Given the description of an element on the screen output the (x, y) to click on. 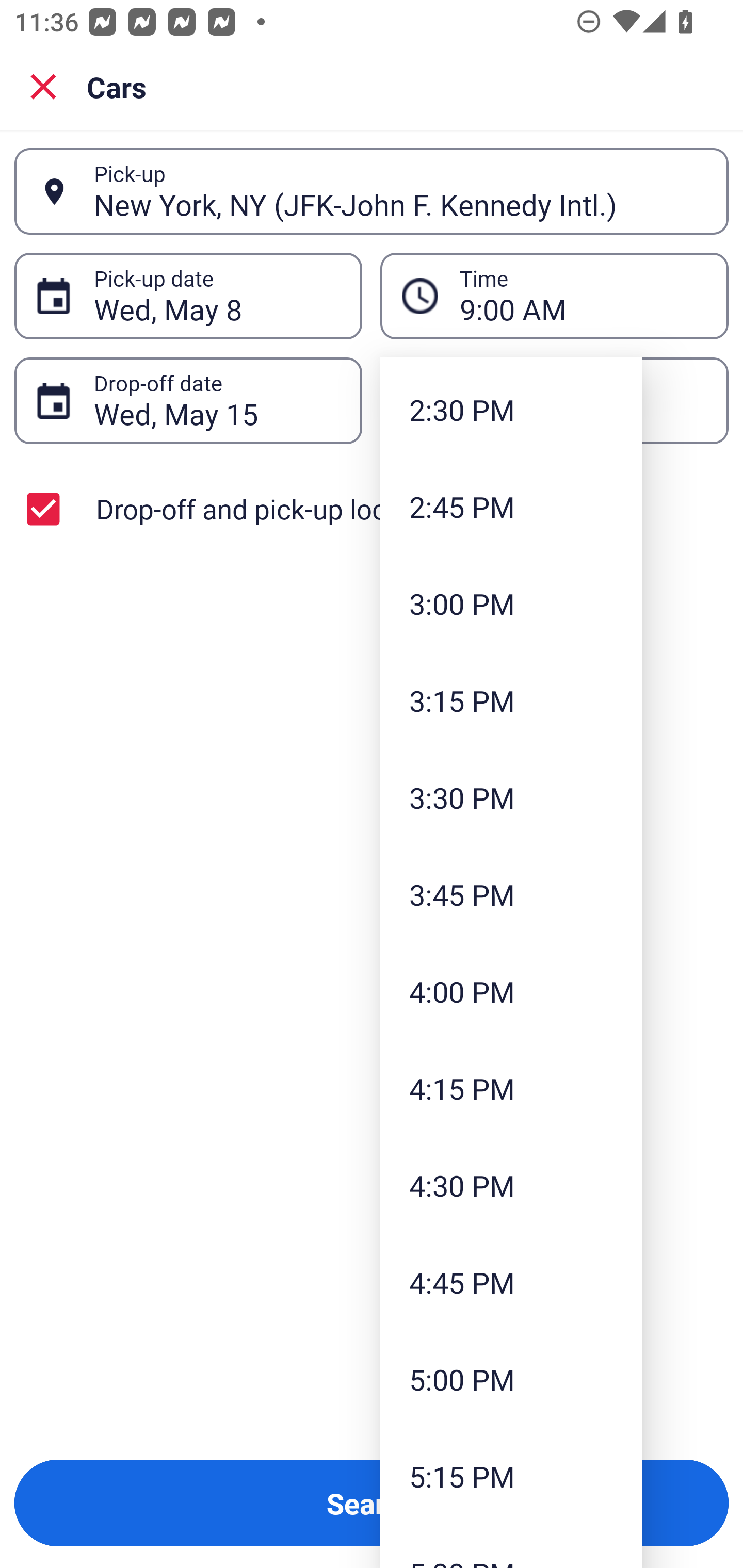
2:30 PM (510, 408)
2:45 PM (510, 506)
3:00 PM (510, 603)
3:15 PM (510, 700)
3:30 PM (510, 797)
3:45 PM (510, 893)
4:00 PM (510, 990)
4:15 PM (510, 1087)
4:30 PM (510, 1185)
4:45 PM (510, 1282)
5:00 PM (510, 1379)
5:15 PM (510, 1476)
